Given the description of an element on the screen output the (x, y) to click on. 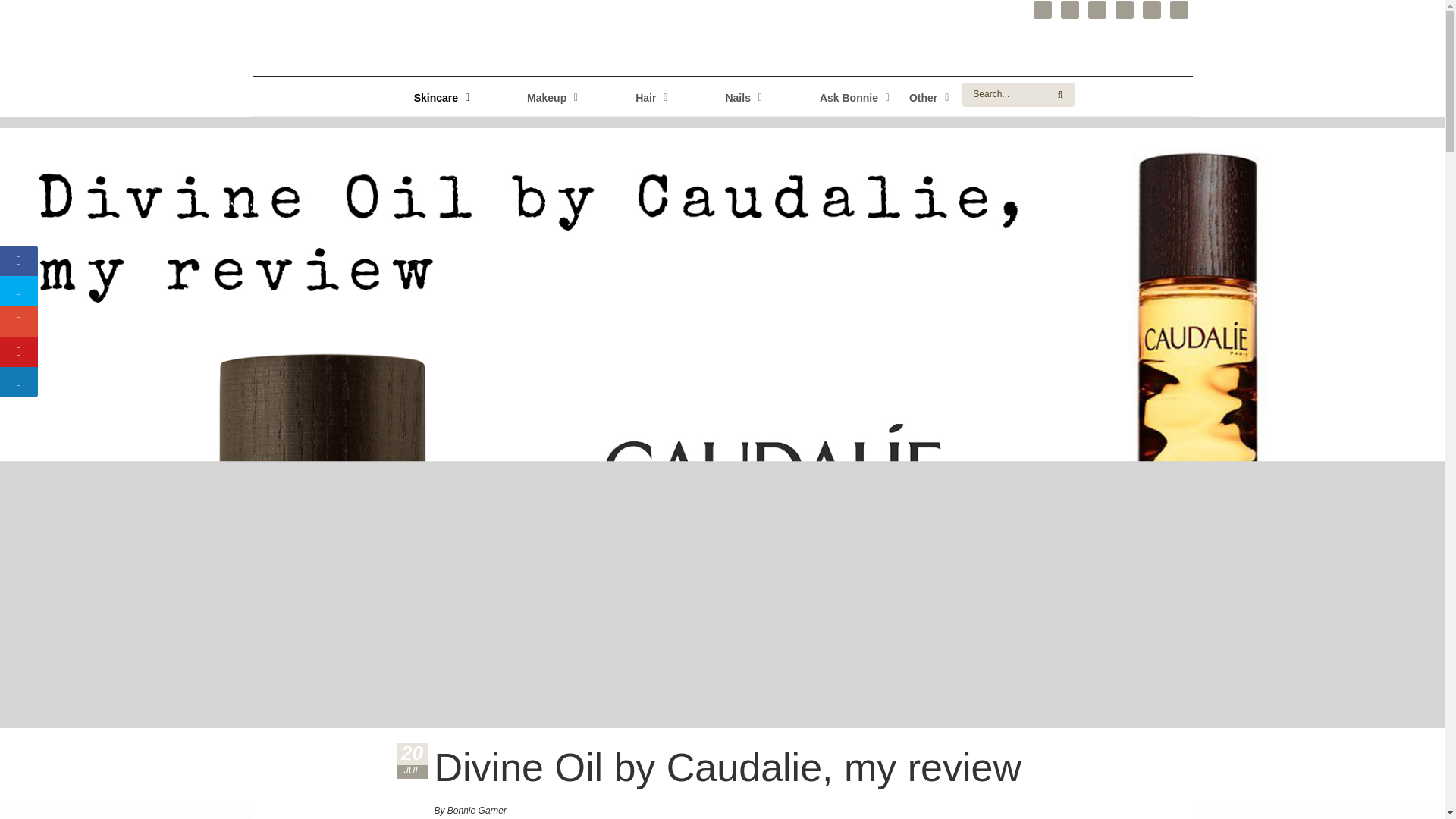
Makeup (531, 96)
Skincare (721, 96)
20-Jul-2014 (420, 96)
Hair (412, 760)
Other (630, 96)
Ask Bonnie (926, 96)
Hair (833, 96)
Nails (630, 96)
Bonnie Garner - Skincare, makeup, nails (721, 96)
